Given the description of an element on the screen output the (x, y) to click on. 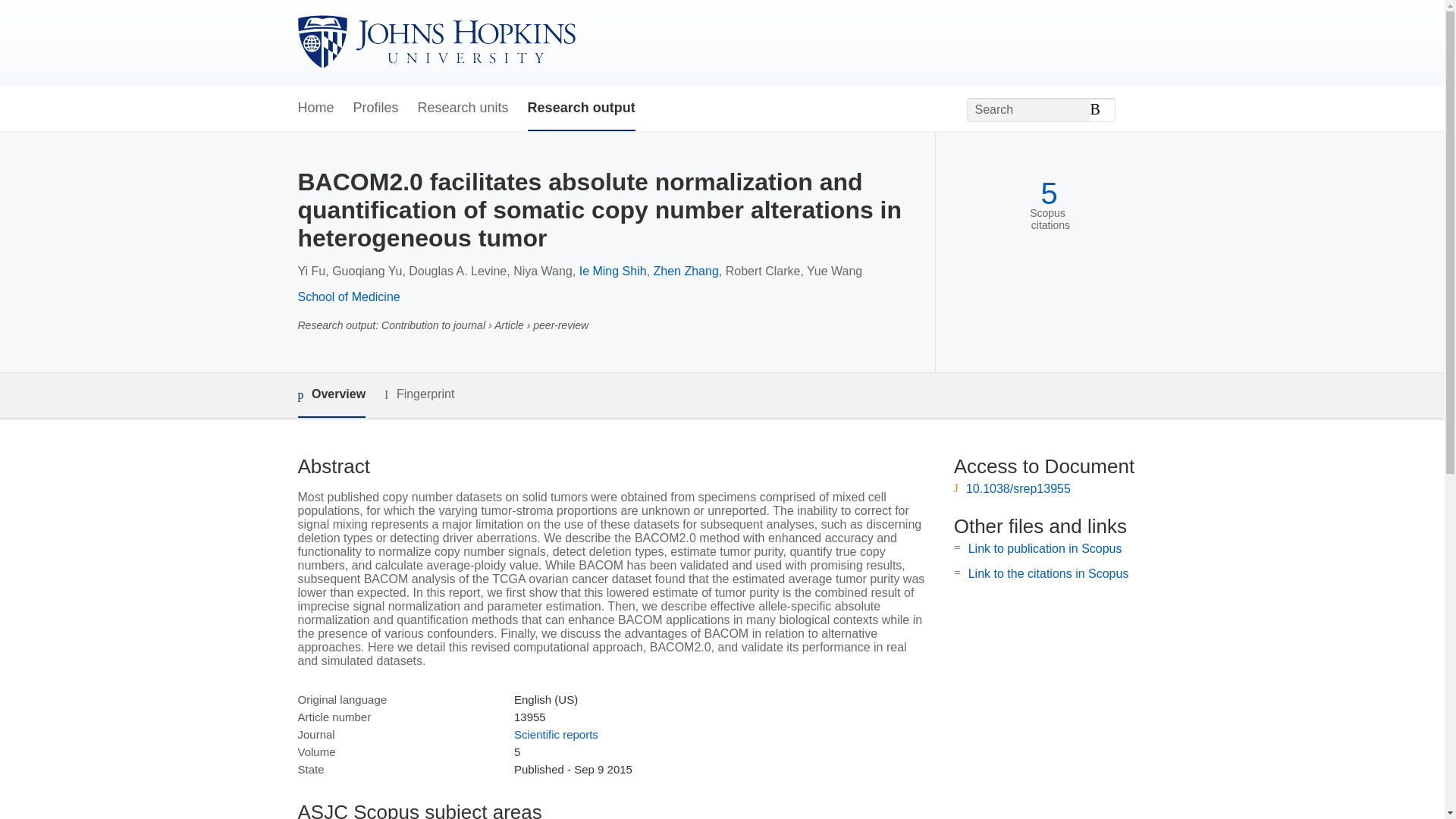
Overview (331, 395)
Scientific reports (555, 734)
Link to the citations in Scopus (1048, 573)
Link to publication in Scopus (1045, 548)
Zhen Zhang (686, 270)
Johns Hopkins University Home (436, 43)
School of Medicine (347, 296)
Research units (462, 108)
Fingerprint (419, 394)
